Given the description of an element on the screen output the (x, y) to click on. 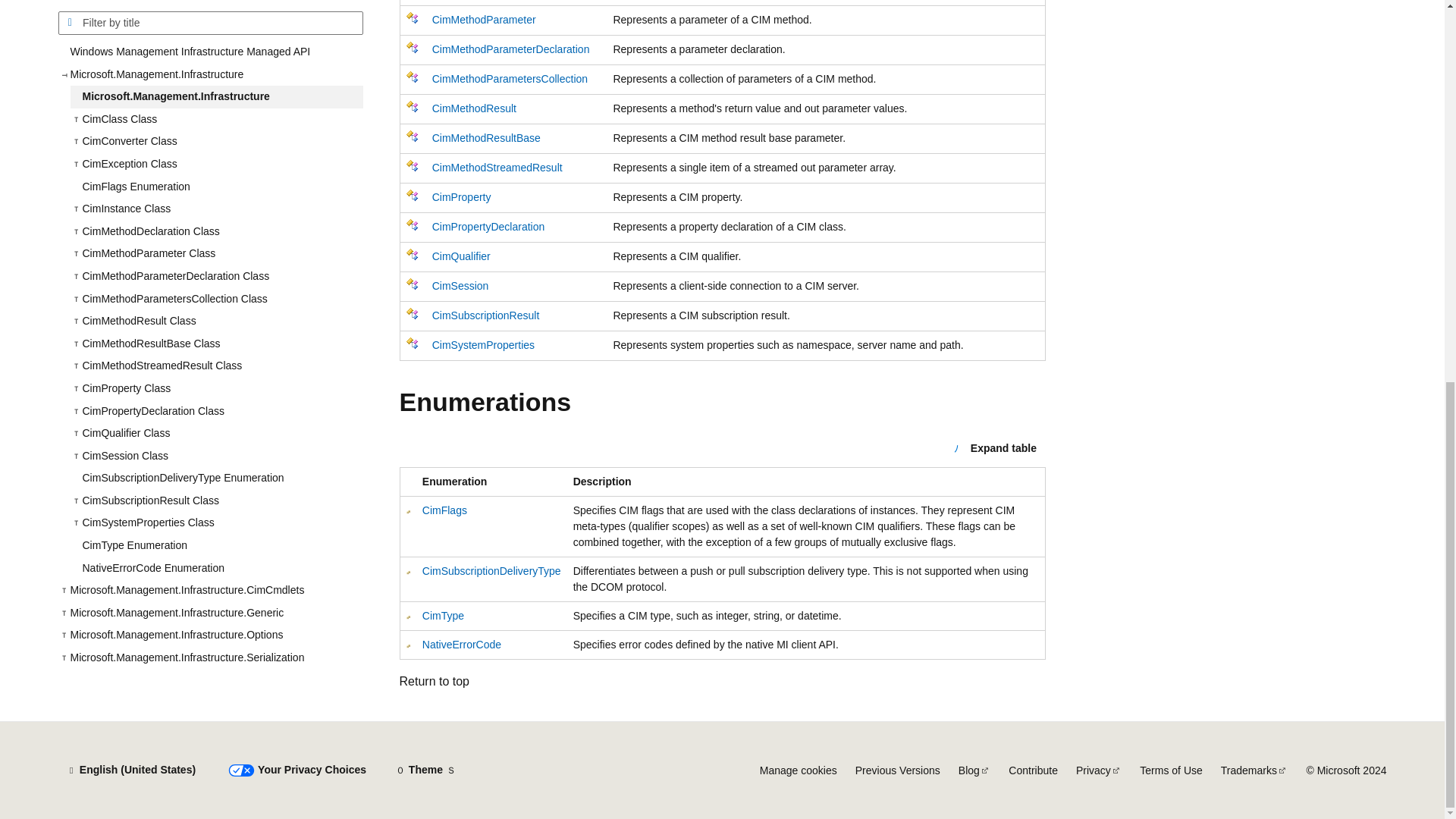
NativeErrorCode Enumeration (215, 6)
